Given the description of an element on the screen output the (x, y) to click on. 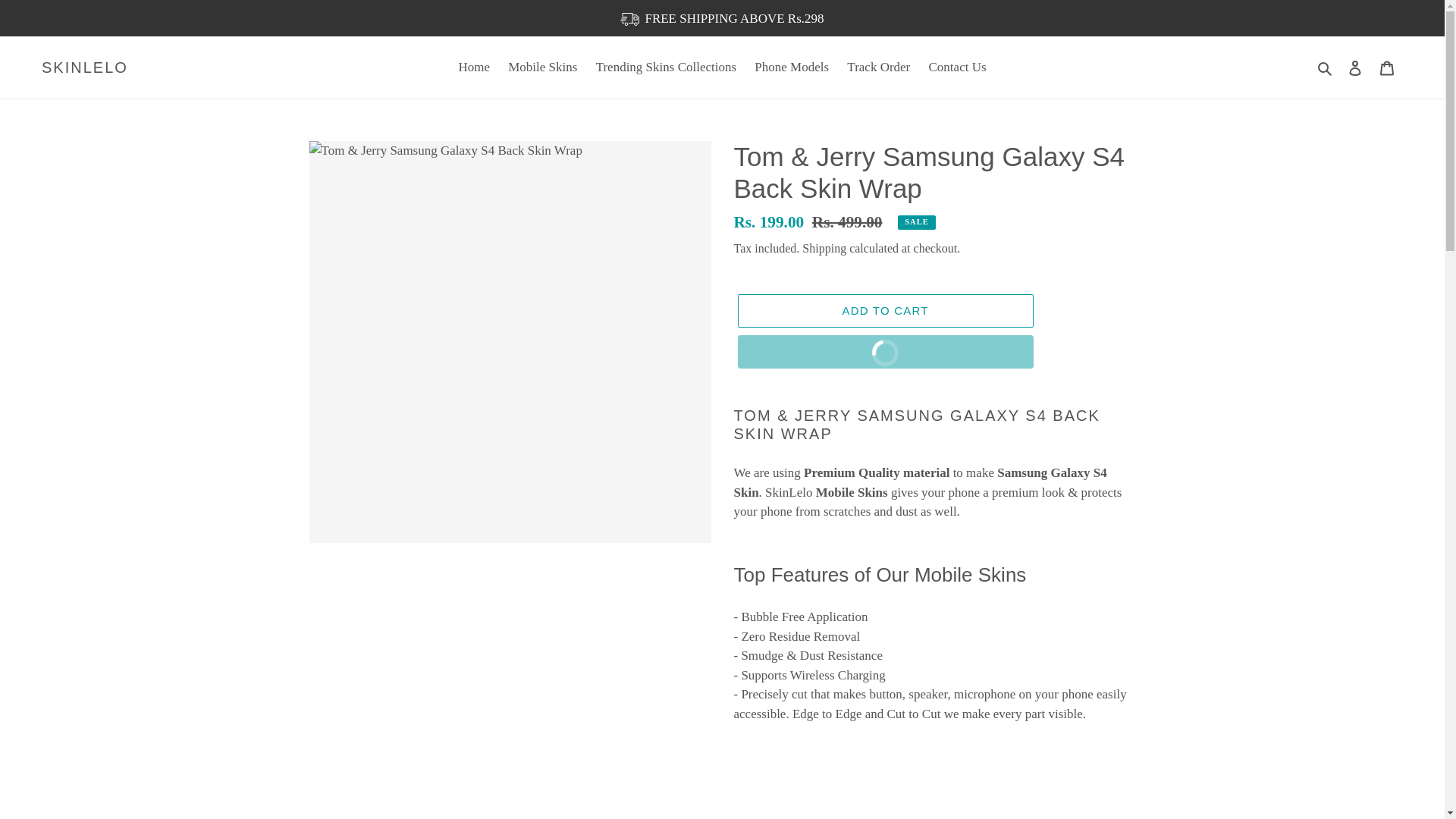
Shipping (823, 247)
Cart (1387, 67)
Search (1326, 66)
ADD TO CART (884, 310)
YouTube video player (934, 791)
Track Order (878, 67)
Log in (1355, 67)
Home (473, 67)
Trending Skins Collections (666, 67)
Contact Us (884, 351)
Phone Models (957, 67)
SKINLELO (790, 67)
Mobile Skins (85, 67)
